Given the description of an element on the screen output the (x, y) to click on. 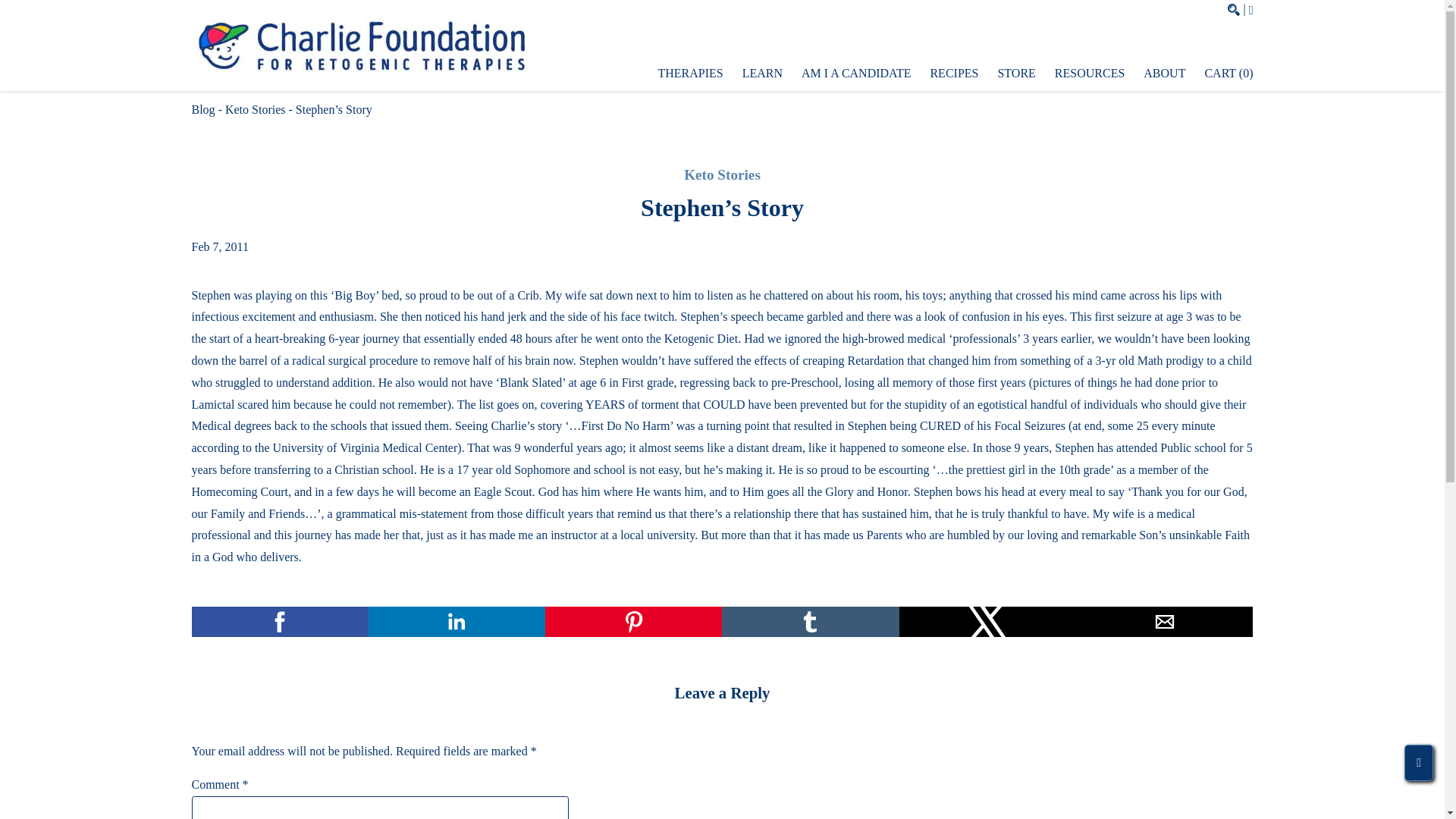
RECIPES (954, 72)
ABOUT (1163, 72)
THERAPIES (690, 72)
Keto Stories (722, 174)
Keto Stories (255, 109)
STORE (1016, 72)
AM I A CANDIDATE (856, 72)
Blog (202, 109)
LEARN (762, 72)
RESOURCES (1089, 72)
